Given the description of an element on the screen output the (x, y) to click on. 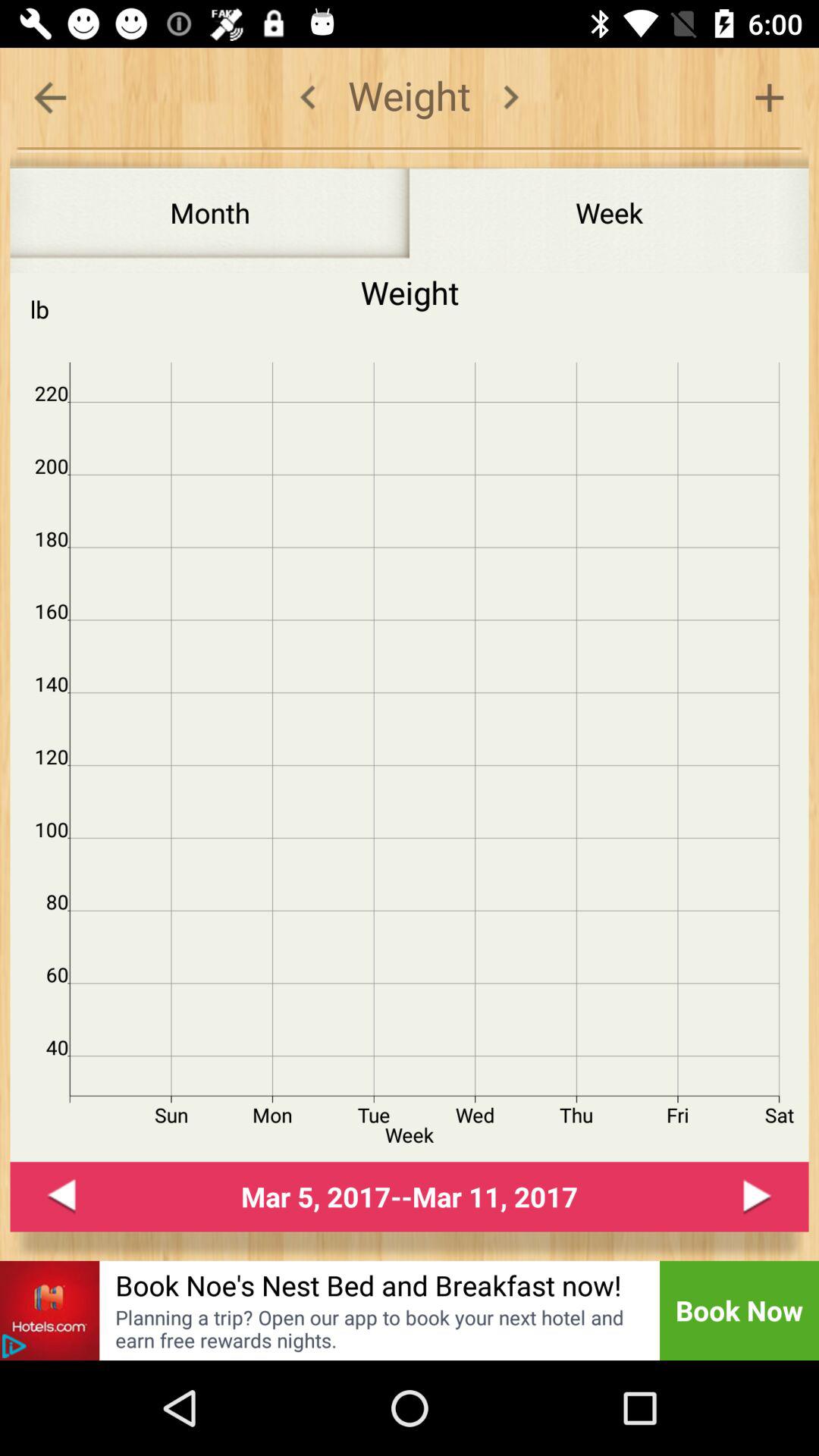
go back (61, 1196)
